Given the description of an element on the screen output the (x, y) to click on. 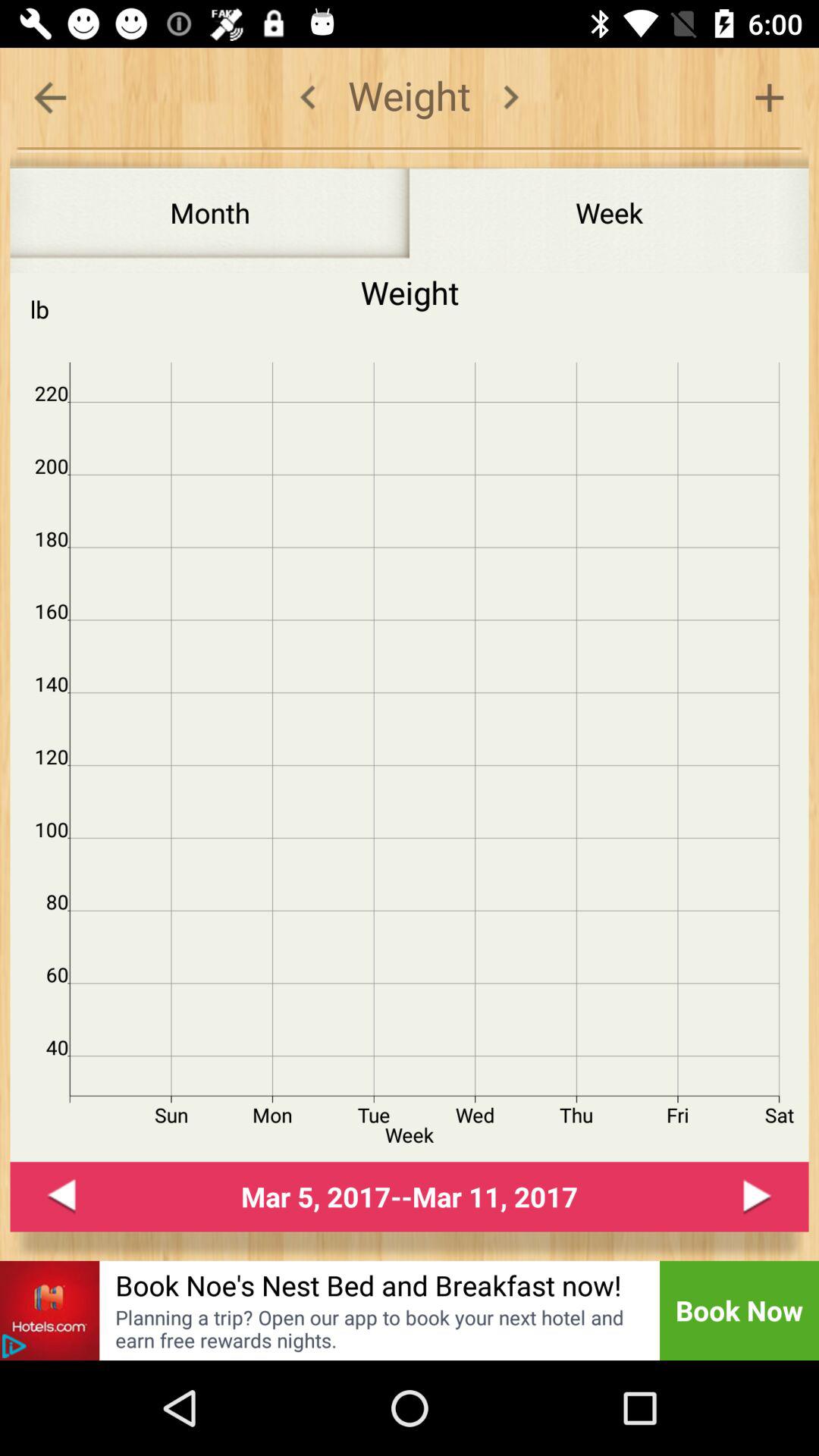
go back (61, 1196)
